Given the description of an element on the screen output the (x, y) to click on. 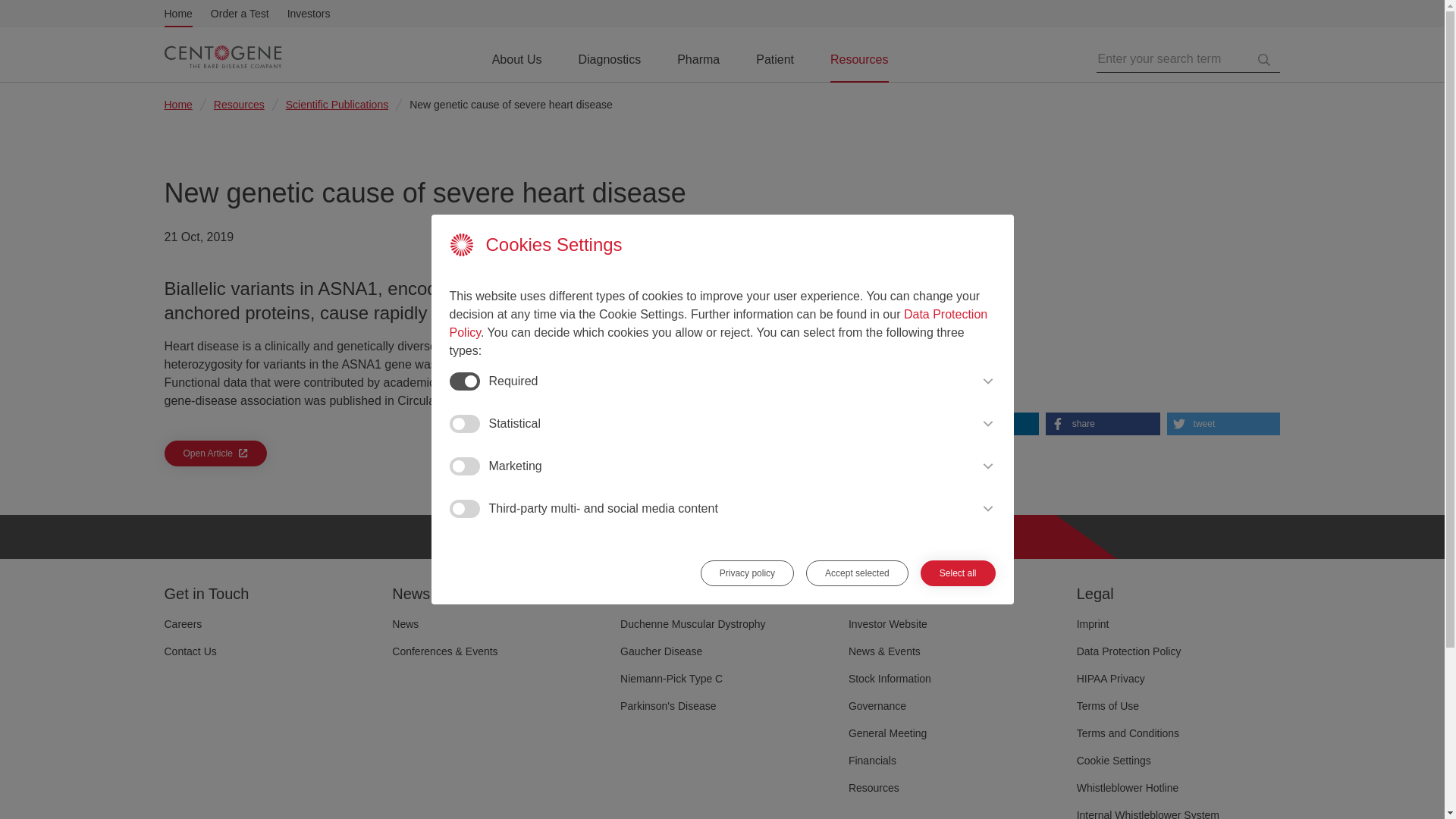
Biodatabank (957, 323)
Investors (308, 13)
Select all (957, 588)
Data Protection Policy (717, 355)
Privacy policy (746, 598)
Centogene Logo (222, 57)
WES (938, 293)
Order a Test (240, 13)
Accept selected (857, 595)
Home (177, 13)
Home (177, 13)
Investors (308, 13)
